Given the description of an element on the screen output the (x, y) to click on. 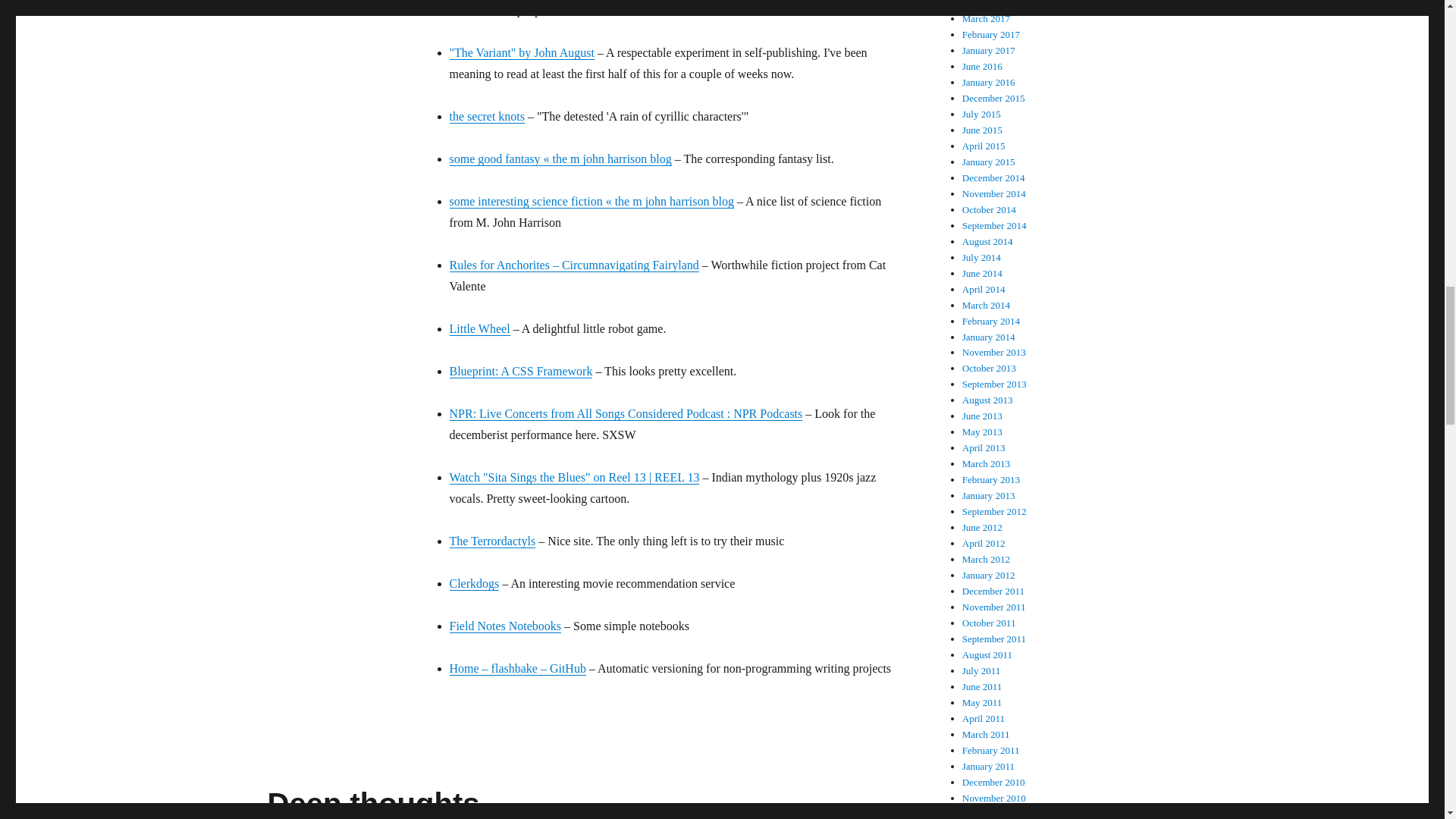
Blueprint: A CSS Framework (520, 370)
Little Wheel (478, 328)
the secret knots (486, 115)
"The Variant" by John August (521, 51)
The Terrordactyls (491, 540)
